Given the description of an element on the screen output the (x, y) to click on. 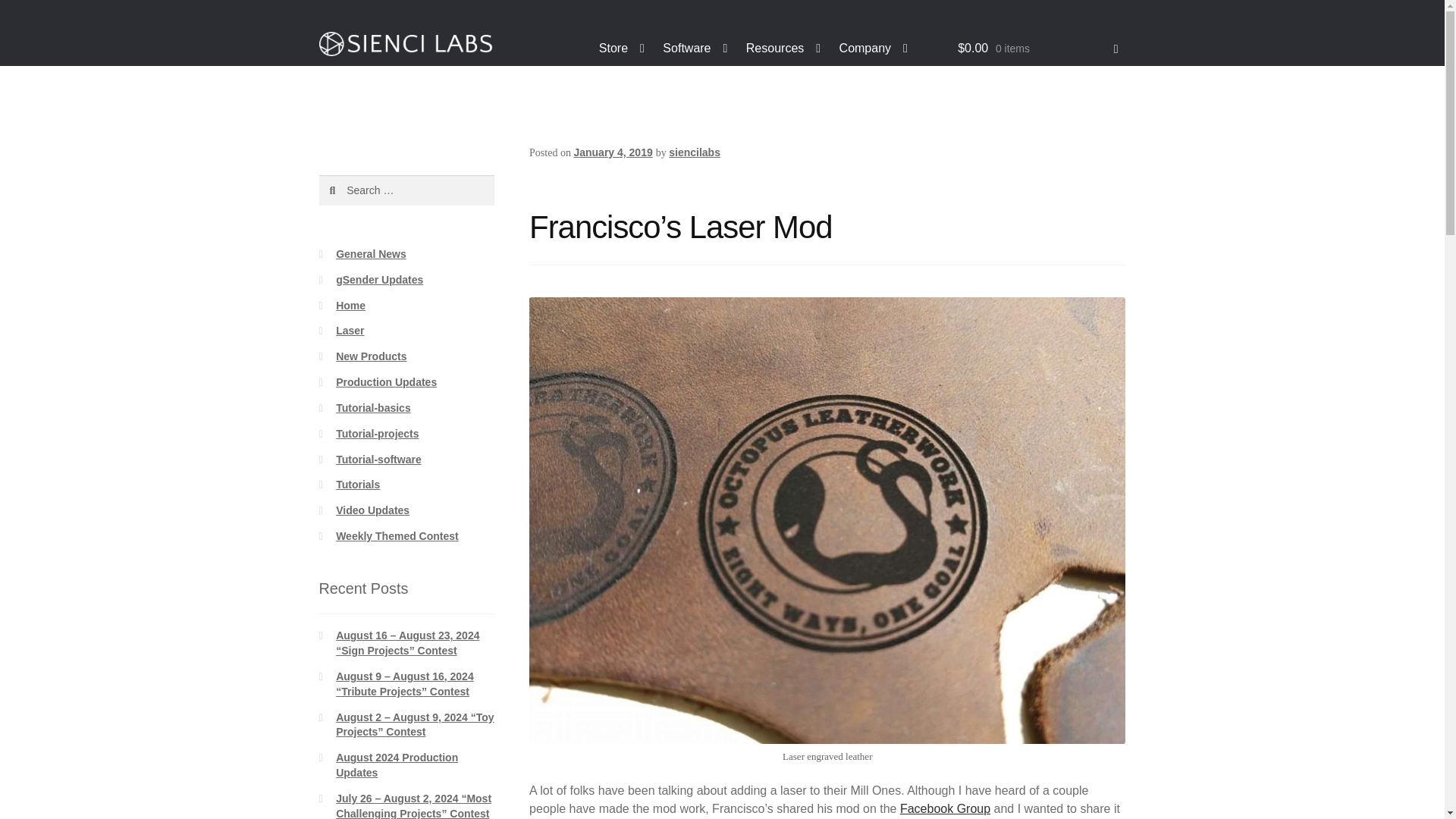
Store (621, 48)
Resources (783, 48)
Company (873, 48)
View your shopping cart (1037, 48)
Software (695, 48)
